Given the description of an element on the screen output the (x, y) to click on. 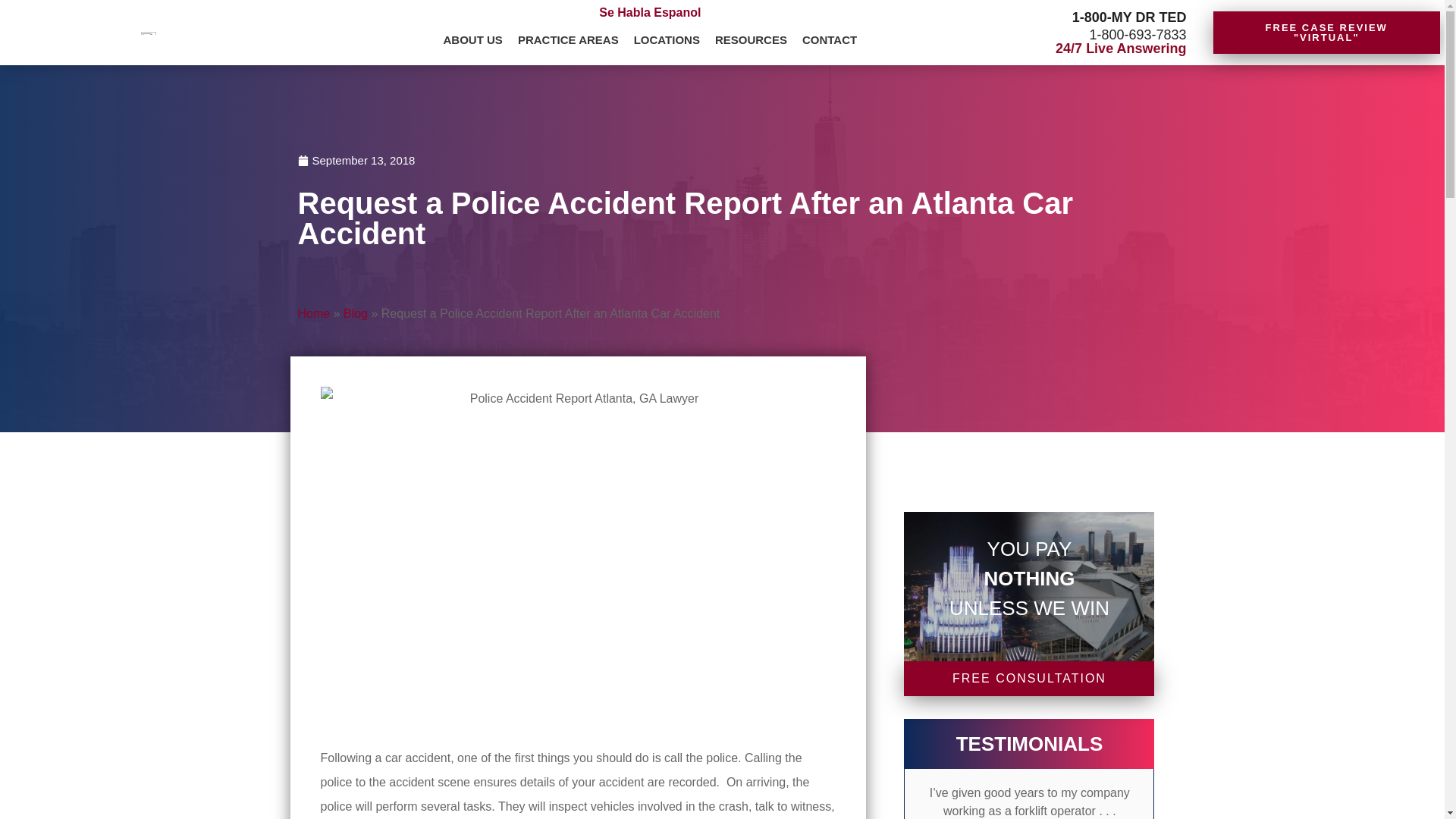
Se Habla Espanol (649, 11)
PRACTICE AREAS (568, 40)
ABOUT US (473, 40)
LOCATIONS (666, 40)
